Given the description of an element on the screen output the (x, y) to click on. 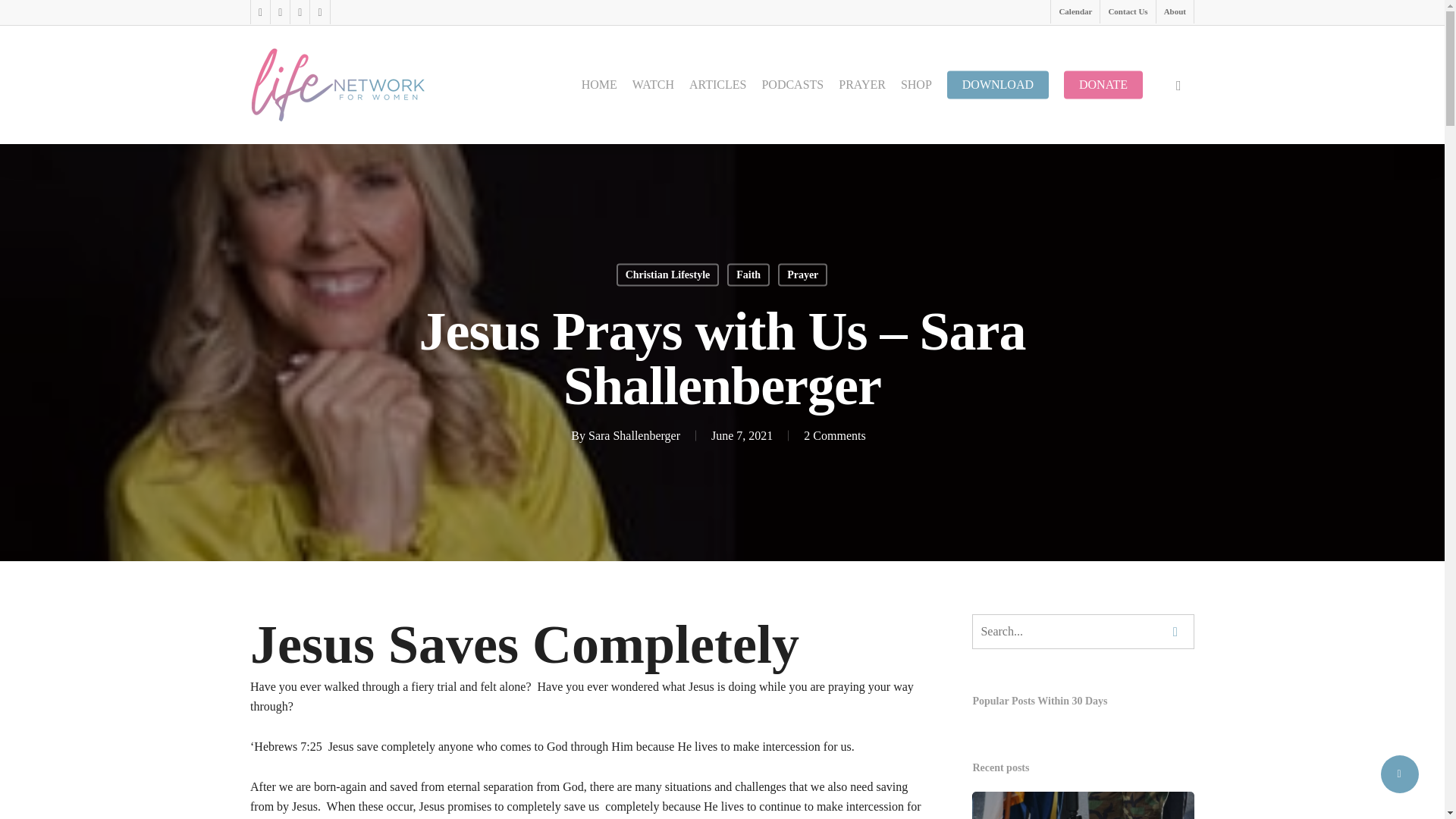
DOWNLOAD (997, 84)
Christian Lifestyle (667, 274)
ARTICLES (717, 84)
Sara Shallenberger (633, 435)
2 Comments (833, 435)
Calendar (1074, 11)
WATCH (652, 84)
DONATE (1103, 84)
PRAYER (862, 84)
HOME (598, 84)
SHOP (916, 84)
Posts by Sara Shallenberger (633, 435)
Prayer (802, 274)
Search for: (1082, 631)
About (1174, 11)
